Given the description of an element on the screen output the (x, y) to click on. 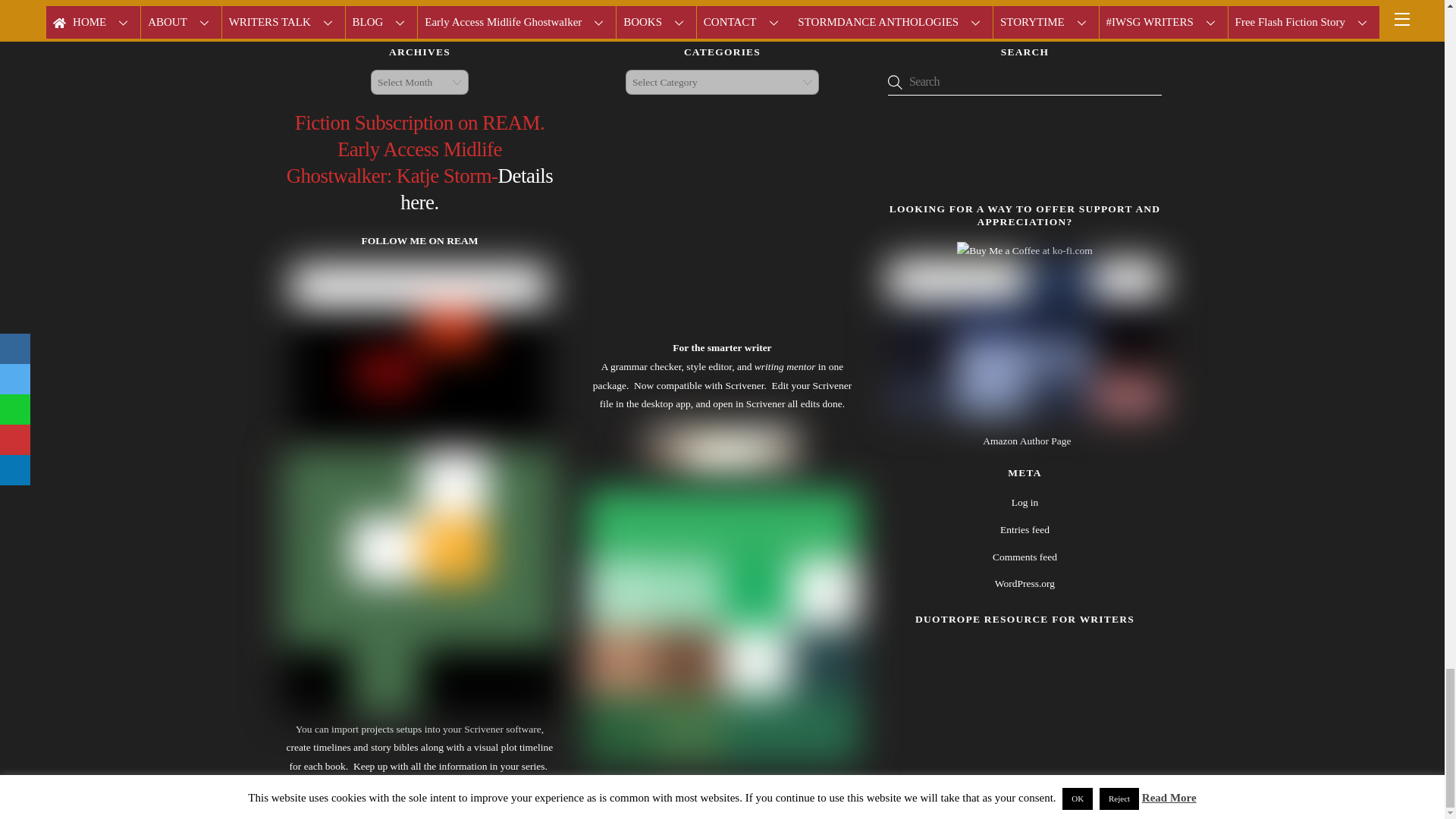
Plottr (419, 709)
Search (1024, 82)
